Given the description of an element on the screen output the (x, y) to click on. 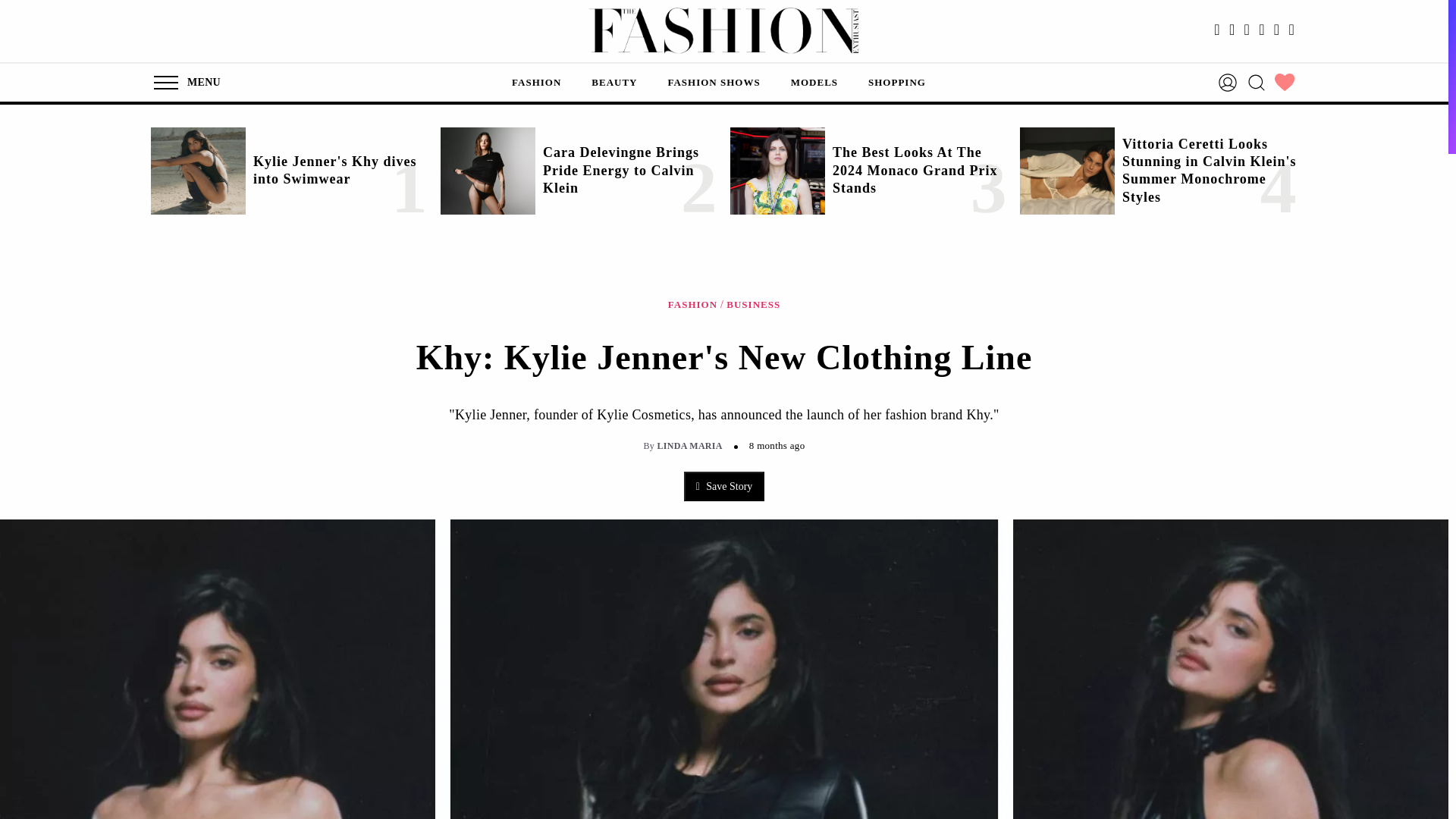
X (1247, 30)
Linkedin (1262, 30)
Facebook (1217, 30)
Pinterest (1276, 30)
Flipboard (1291, 30)
Instagram (1231, 30)
